Given the description of an element on the screen output the (x, y) to click on. 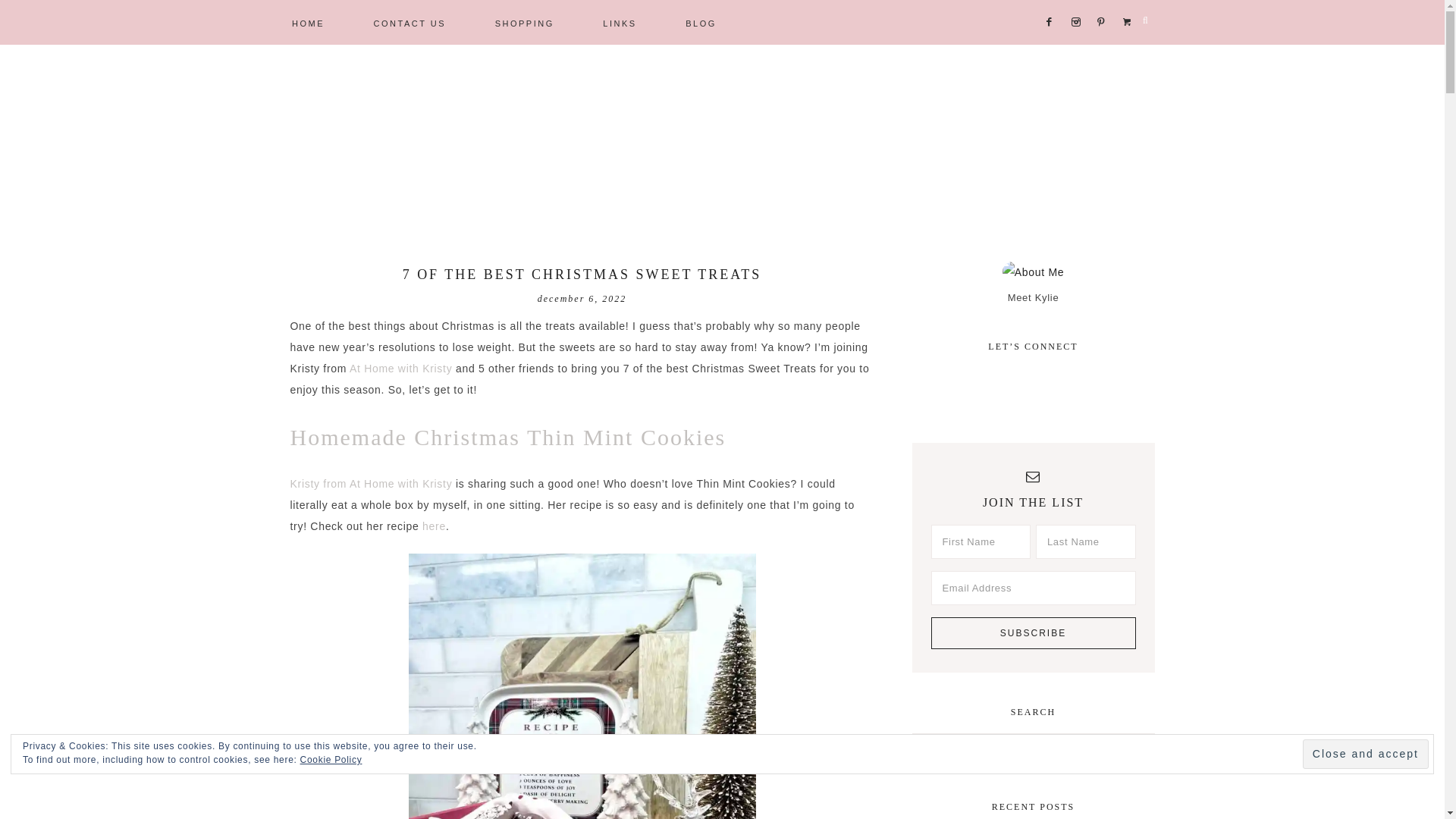
Kristy from At Home with Kristy (370, 483)
Instagram (1076, 1)
Pinterest (1102, 1)
SHOPPING (523, 22)
BLOG (700, 22)
here (433, 526)
Close and accept (1365, 754)
HOME (308, 22)
At Home with Kristy (400, 368)
Subscribe (1033, 633)
CONTACT US (409, 22)
LINKS (619, 22)
Shop (1126, 1)
Facebook (1049, 1)
Homemade Christmas Thin Mint Cookies (507, 437)
